Given the description of an element on the screen output the (x, y) to click on. 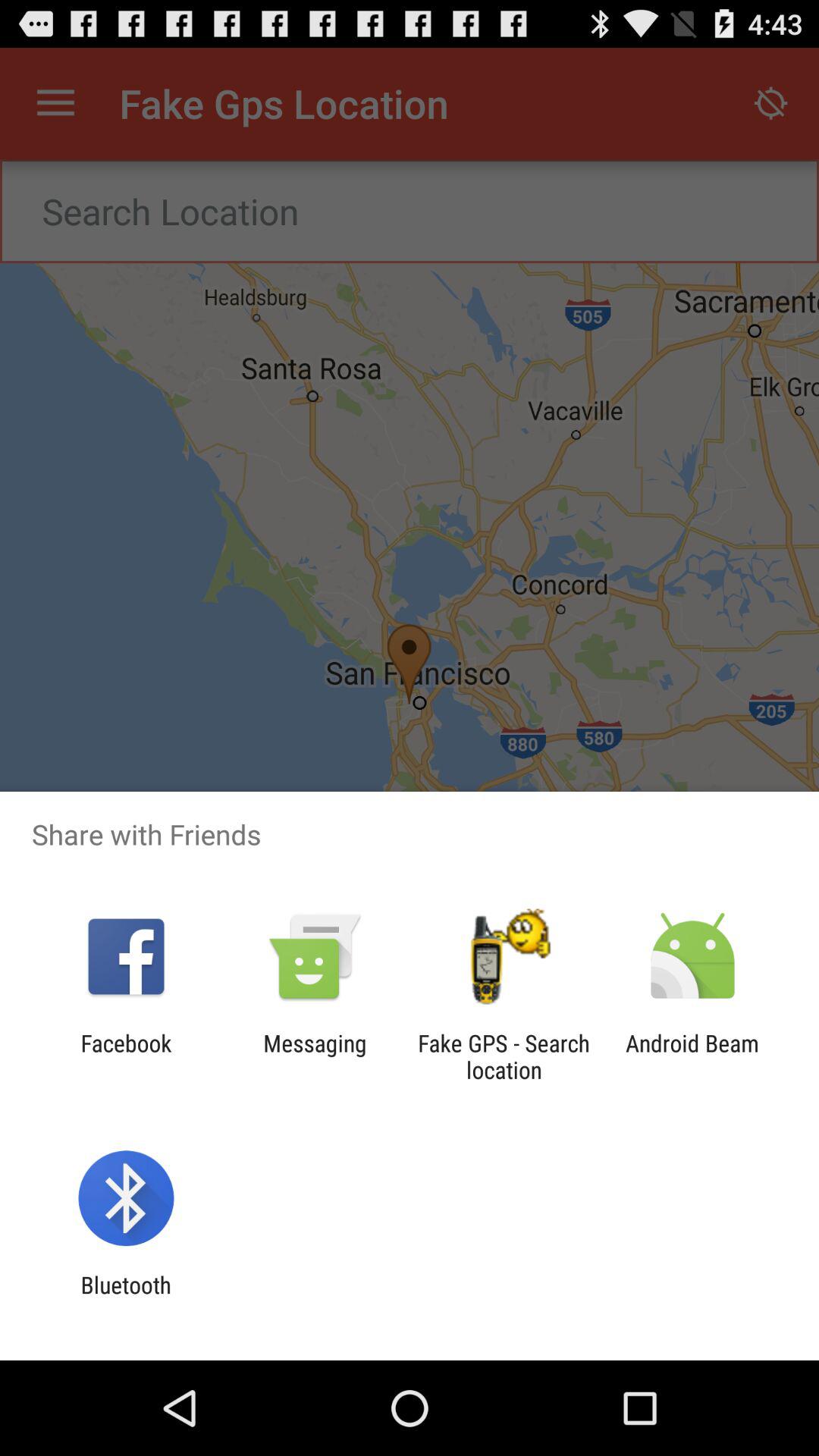
jump until bluetooth app (125, 1298)
